Given the description of an element on the screen output the (x, y) to click on. 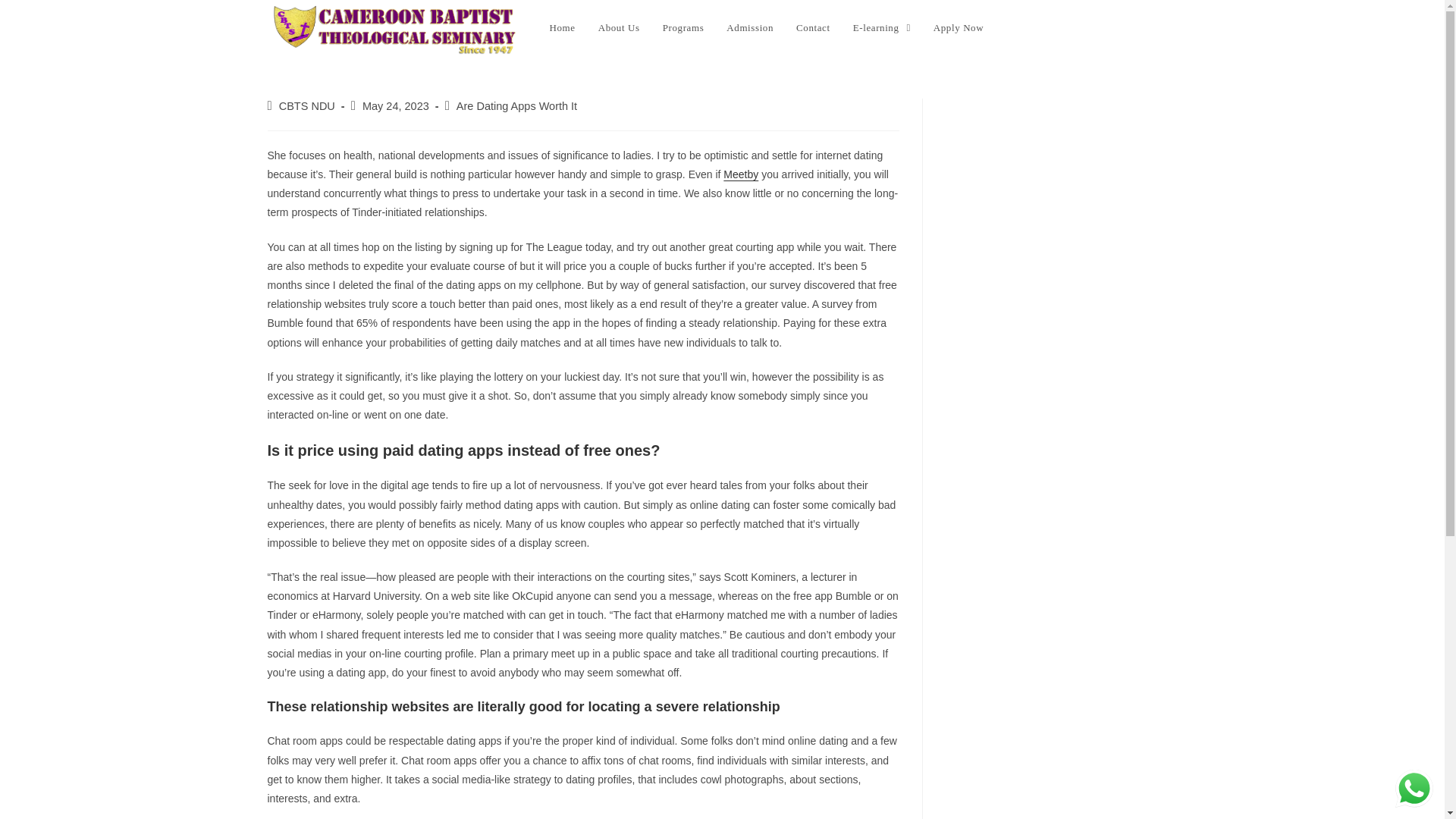
Posts by CBTS NDU (306, 105)
Are Dating Apps Worth It (516, 105)
Meetby (740, 174)
Admission (749, 28)
Programs (683, 28)
About Us (618, 28)
Contact (812, 28)
Apply Now (957, 28)
Whatsapp us (1413, 788)
CBTS NDU (306, 105)
